Given the description of an element on the screen output the (x, y) to click on. 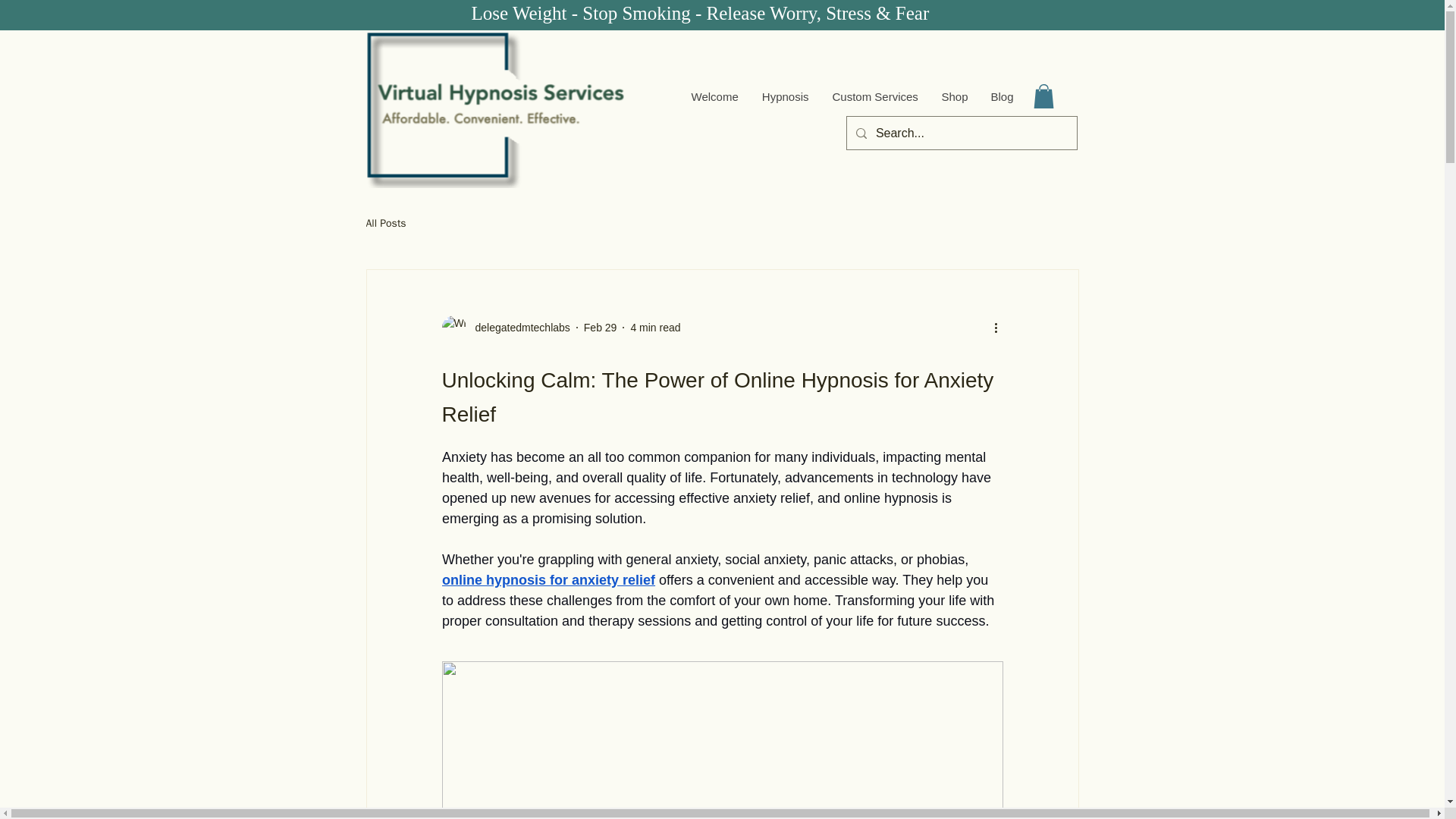
Shop (954, 96)
4 min read (654, 327)
All Posts (385, 223)
Hypnosis (785, 96)
Blog (1001, 96)
online hypnosis for anxiety relief (547, 580)
delegatedmtechlabs (517, 327)
delegatedmtechlabs (505, 327)
Custom Services (875, 96)
Feb 29 (600, 327)
Welcome (713, 96)
